Given the description of an element on the screen output the (x, y) to click on. 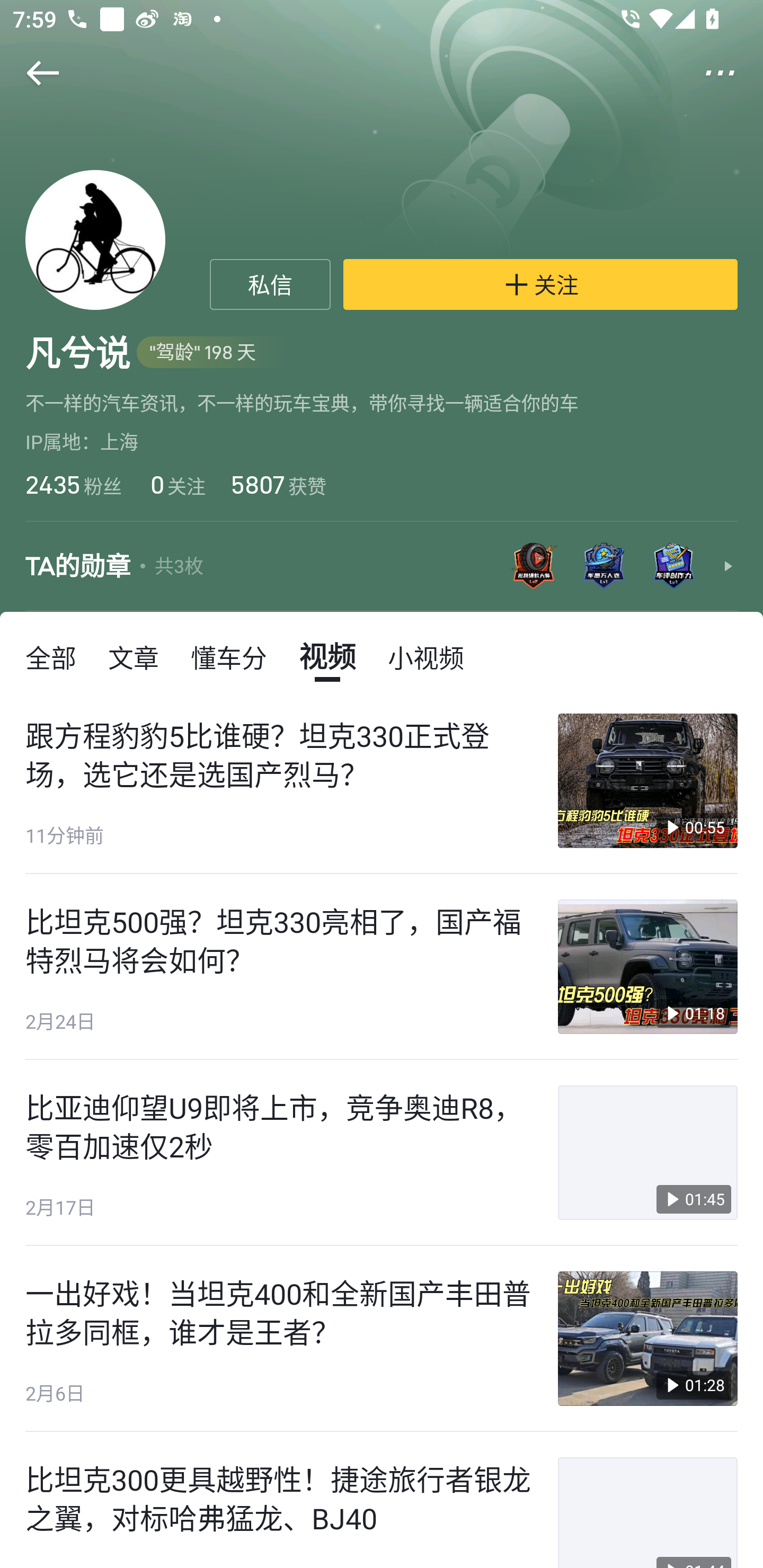
 (30, 72)
 (732, 72)
私信 (269, 284)
 关注 (540, 284)
"驾龄" 198 天 (211, 352)
2435 粉丝 (73, 484)
0 关注 (176, 484)
5807 获赞 (278, 484)
TA的勋章 共3枚  (381, 566)
全部 (50, 656)
文章 (133, 656)
懂车分 (228, 656)
视频 (327, 656)
小视频 (425, 656)
跟方程豹豹5比谁硬？坦克330正式登场，选它还是选国产烈马？ 11分钟前  00:55 (381, 780)
比坦克500强？坦克330亮相了，国产福特烈马将会如何？ 2月24日  01:18 (381, 966)
比亚迪仰望U9即将上市，竞争奥迪R8，零百加速仅2秒 2月17日  01:45 (381, 1152)
一出好戏！当坦克400和全新国产丰田普拉多同框，谁才是王者？ 2月6日  01:28 (381, 1338)
比坦克300更具越野性！捷途旅行者银龙之翼，对标哈弗猛龙、BJ40 1月30日  01:44 (381, 1499)
